Given the description of an element on the screen output the (x, y) to click on. 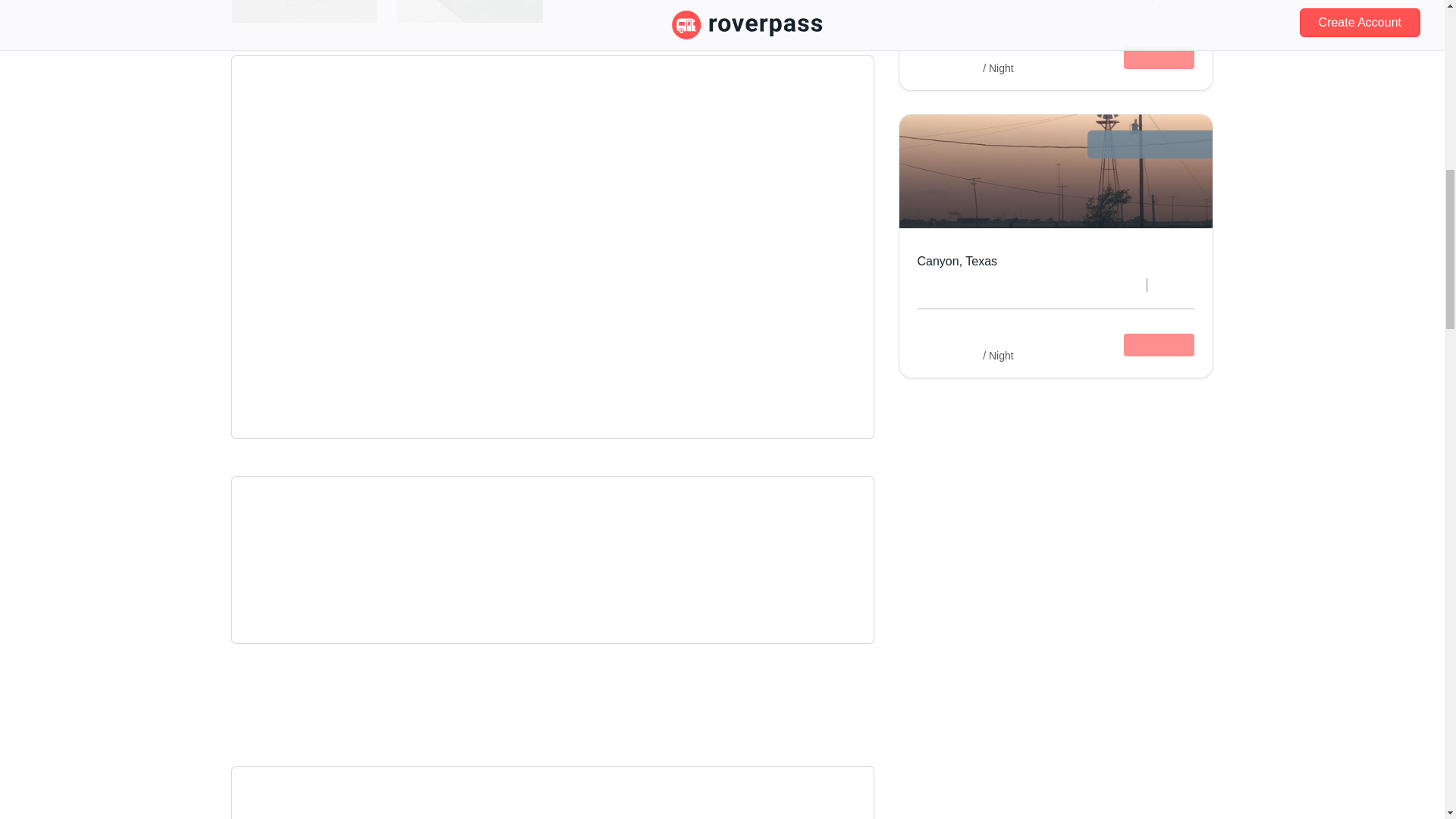
See Details (1158, 344)
1100 Folsom Road, Amarillo, TX, 79108 (552, 127)
1100 Folsom Road, Amarillo, TX, 79108 (552, 127)
See Details (1158, 56)
